Given the description of an element on the screen output the (x, y) to click on. 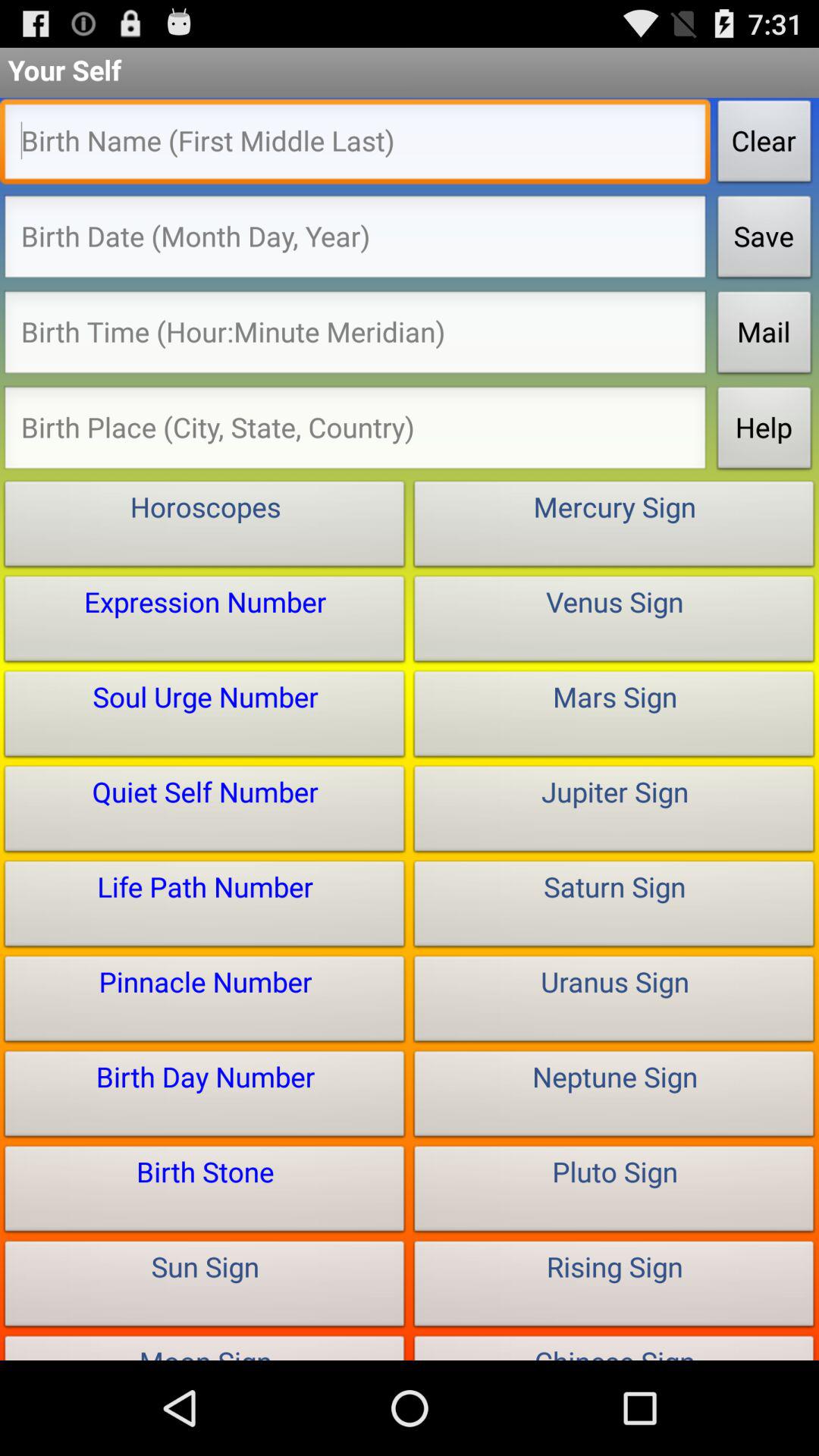
enter your birth place (355, 432)
